Given the description of an element on the screen output the (x, y) to click on. 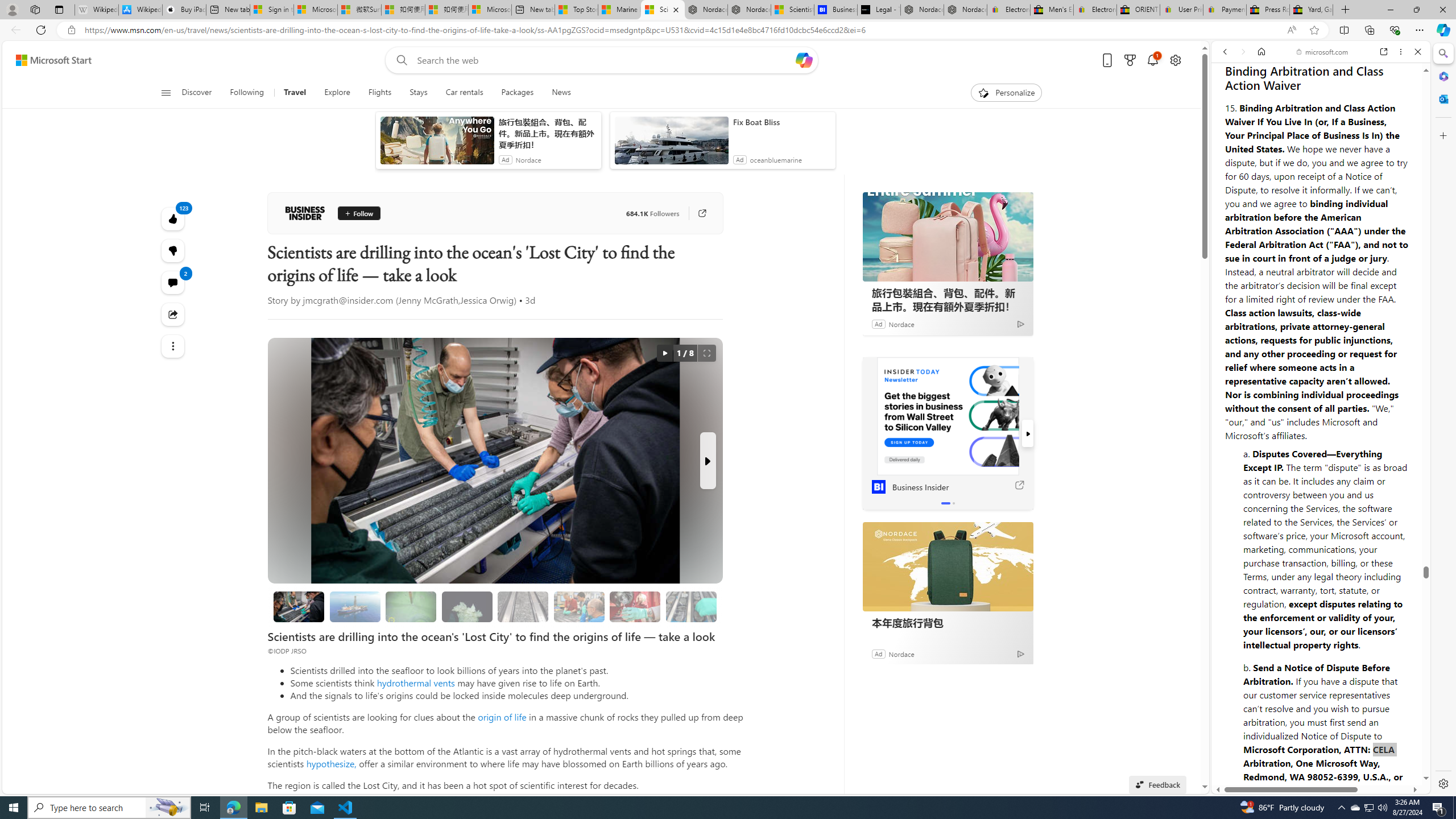
Packages (517, 92)
Customize (1442, 135)
More options (1401, 51)
Open link in new tab (1383, 51)
anim-content (671, 144)
App bar (728, 29)
Enter your search term (603, 59)
Legal (1292, 757)
Payments Terms of Use | eBay.com (1224, 9)
